Given the description of an element on the screen output the (x, y) to click on. 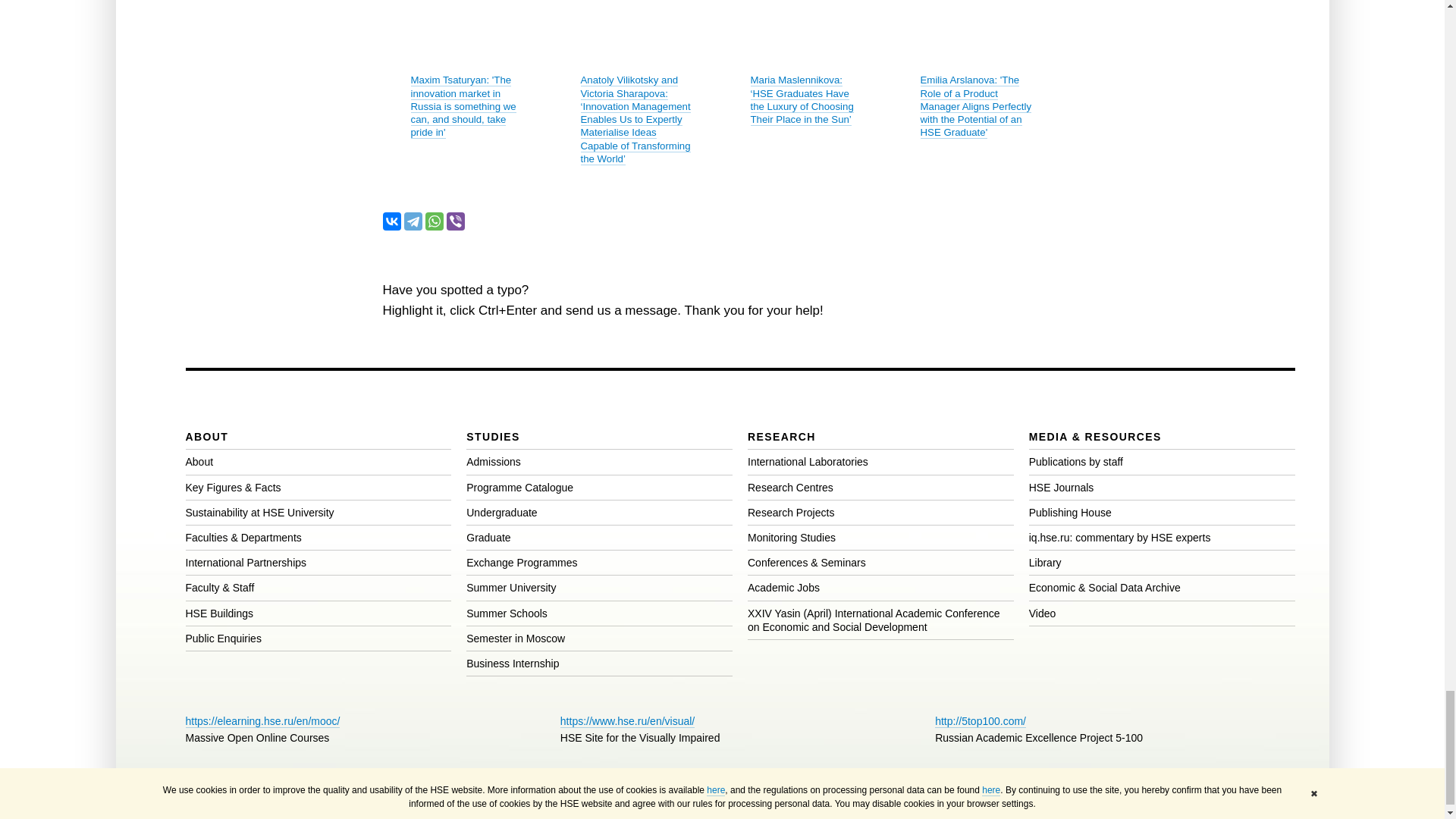
WhatsApp (433, 221)
Viber (454, 221)
Telegram (412, 221)
VKontakte (390, 221)
